Given the description of an element on the screen output the (x, y) to click on. 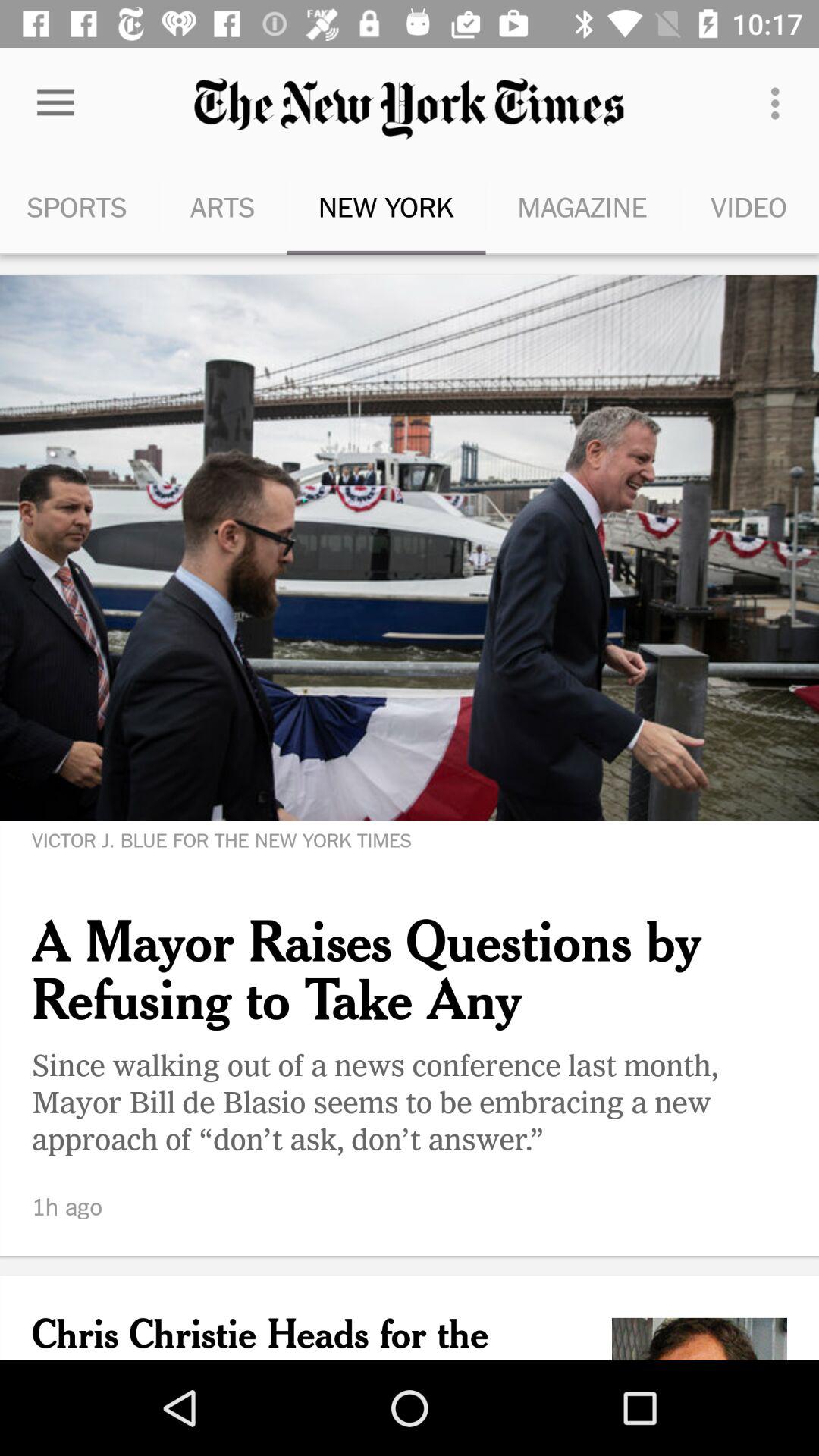
choose magazine icon (582, 206)
